Given the description of an element on the screen output the (x, y) to click on. 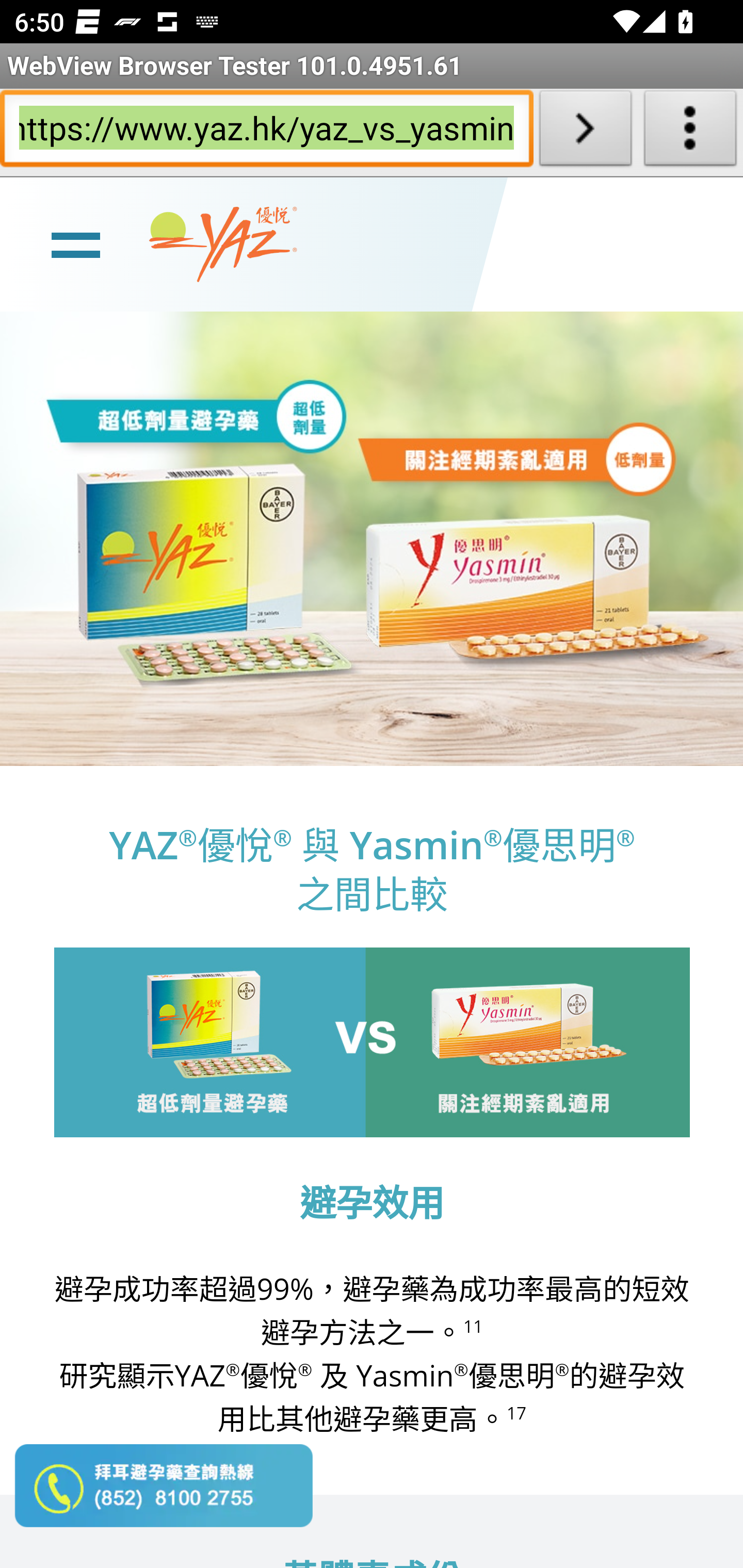
https://www.yaz.hk/yaz_vs_yasmin (266, 132)
Load URL (585, 132)
About WebView (690, 132)
www.yaz (222, 244)
line Toggle burger menu (75, 242)
